Given the description of an element on the screen output the (x, y) to click on. 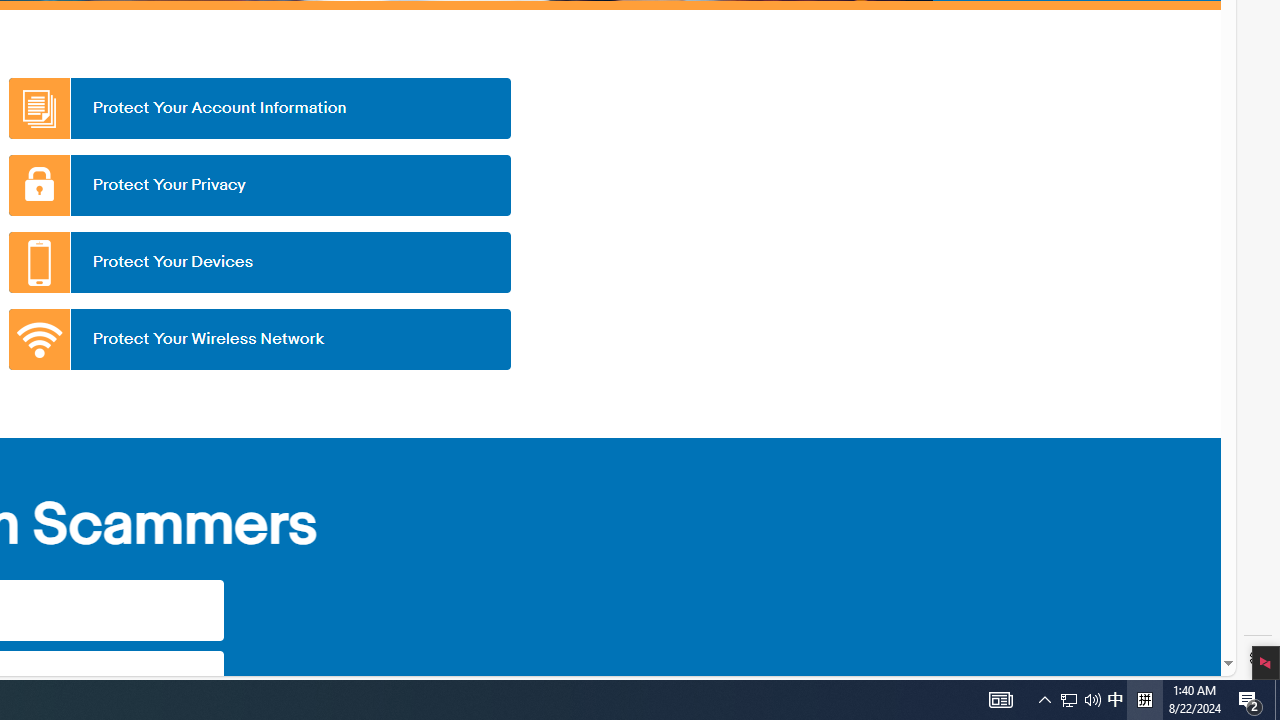
Protect Your Wireless Network (259, 339)
Protect Your Account Information (259, 107)
Protect Your Devices (259, 262)
Protect Your Privacy (259, 185)
